Given the description of an element on the screen output the (x, y) to click on. 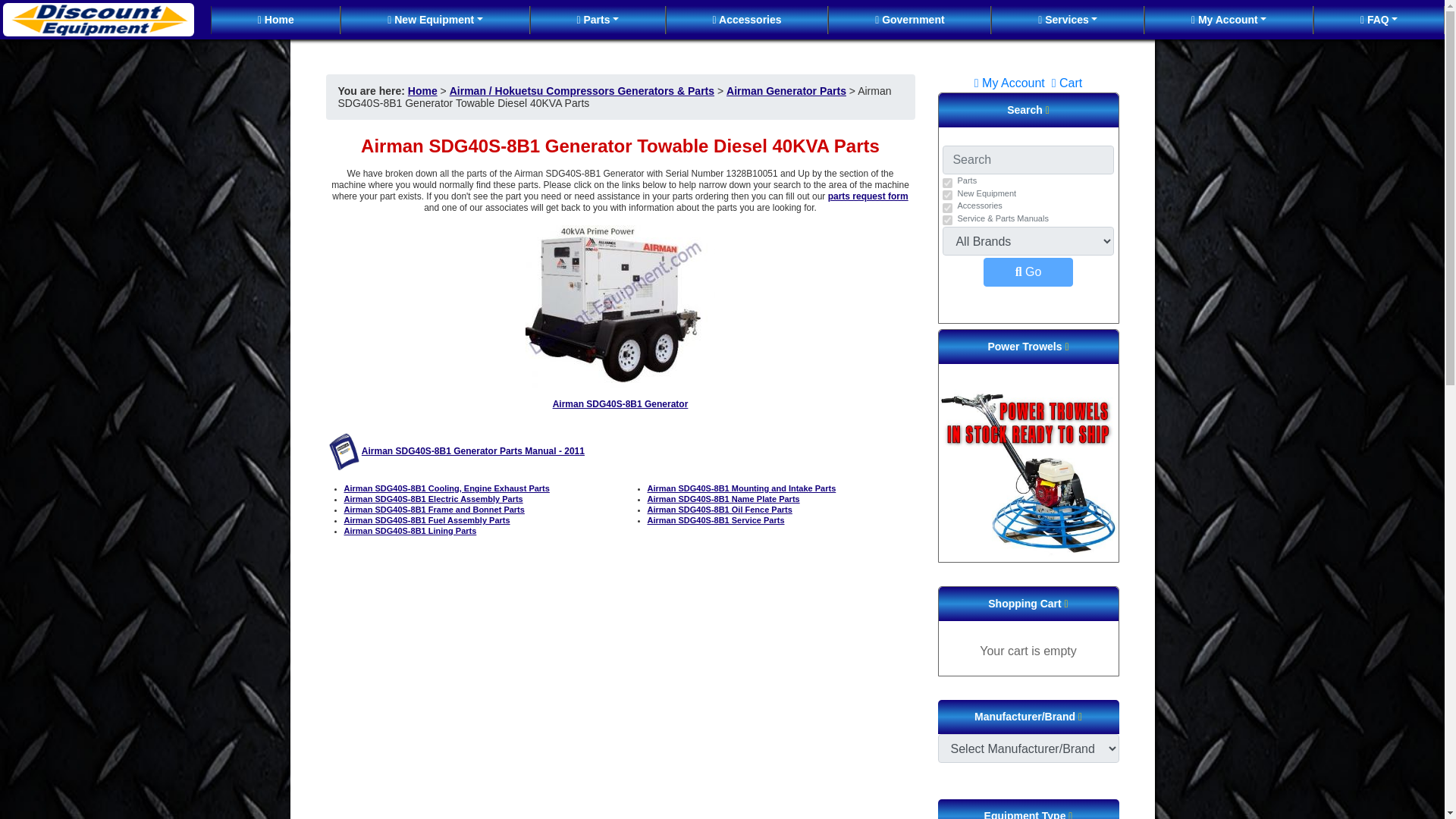
n (947, 183)
nwg (947, 194)
Home (422, 91)
Parts (598, 19)
Services (1066, 19)
parts request form (868, 195)
Accessories (747, 19)
Airman Generator Parts (785, 91)
Power Trowels In Stock Ready to Ship (1028, 471)
Airman SDG40S-8B1 Generator Parts Manual - 2011 (473, 450)
My Account (1228, 19)
Government (909, 19)
Airman SDG40S-8B1 Frame and Bonnet Parts (433, 509)
Airman SDG40S-8B1 Cooling, Engine Exhaust Parts (446, 488)
Airman SDG40S-8B1 Generator (620, 403)
